Given the description of an element on the screen output the (x, y) to click on. 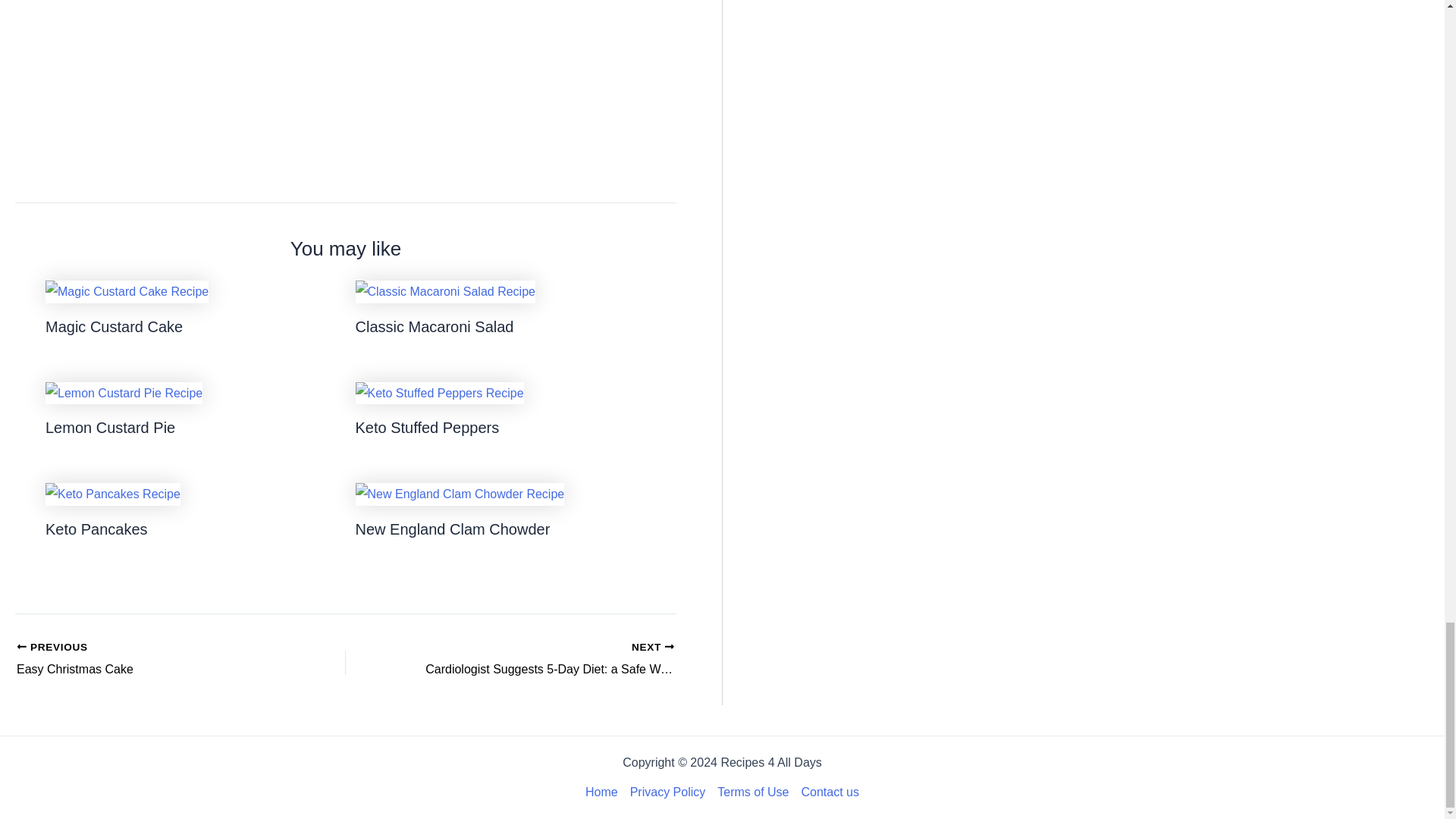
Classic Macaroni Salad (148, 659)
Easy Christmas Cake (434, 326)
New England Clam Chowder (148, 659)
Lemon Custard Pie (452, 528)
Magic Custard Cake (109, 427)
Keto Stuffed Peppers (114, 326)
Keto Pancakes (427, 427)
